Given the description of an element on the screen output the (x, y) to click on. 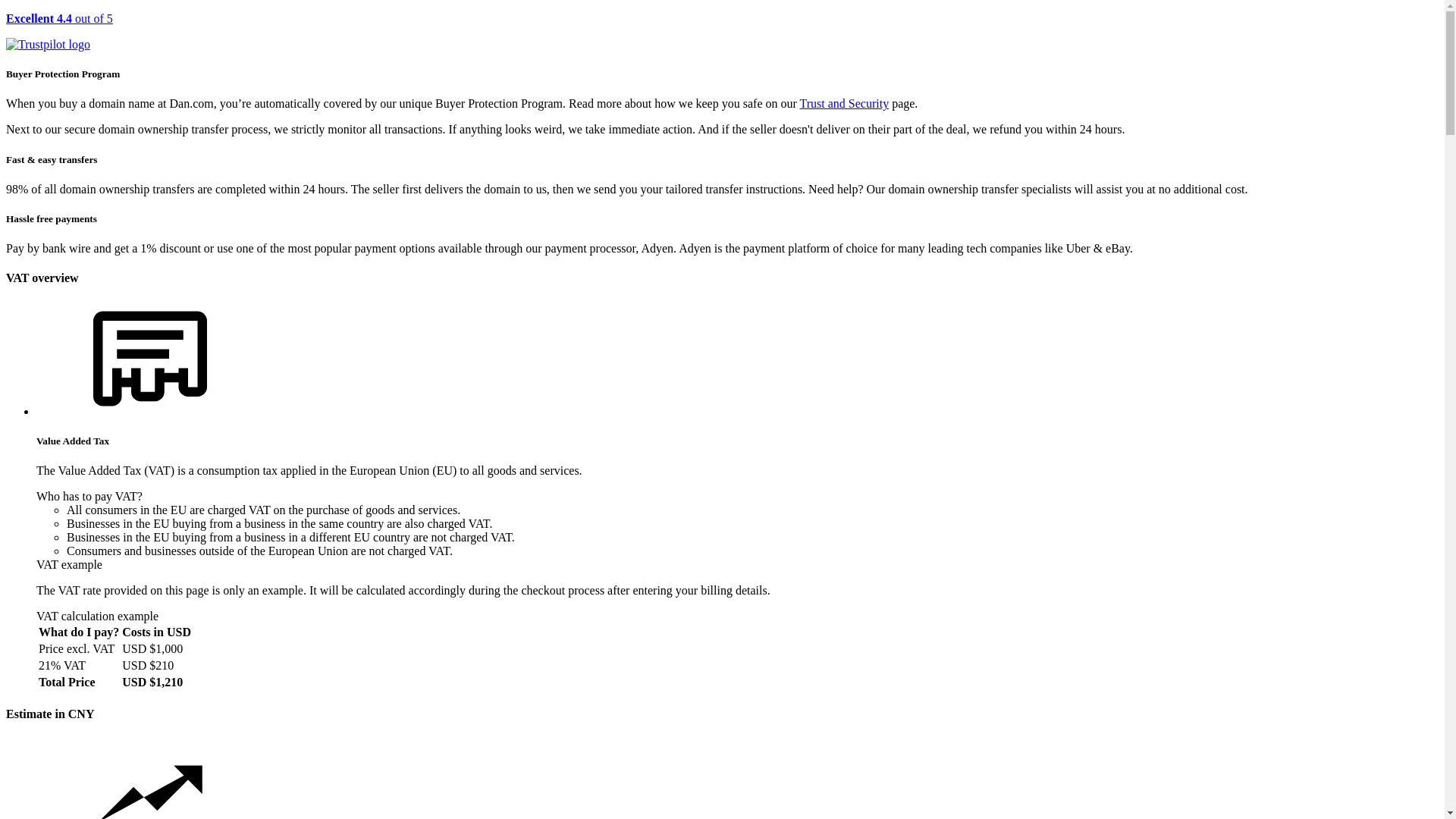
Excellent 4.4 out of 5 Element type: text (722, 31)
Trust and Security Element type: text (844, 103)
